Given the description of an element on the screen output the (x, y) to click on. 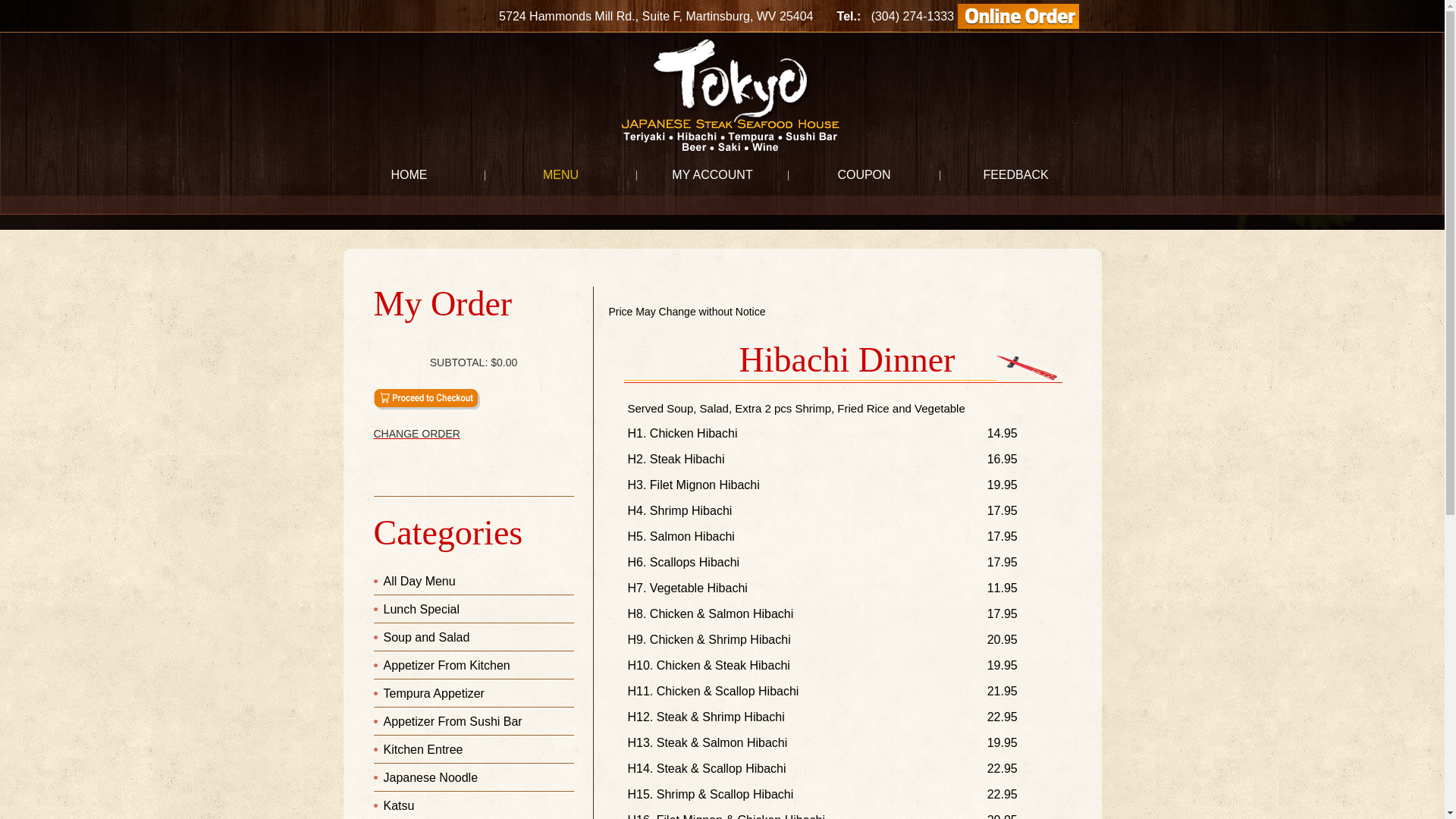
CHANGE ORDER Element type: text (473, 433)
Tempura Appetizer Element type: text (433, 693)
MY ACCOUNT Element type: text (712, 175)
Japanese Noodle Element type: text (430, 777)
COUPON Element type: text (864, 175)
Soup and Salad Element type: text (426, 636)
All Day Menu Element type: text (419, 580)
Appetizer From Sushi Bar Element type: text (452, 721)
Kitchen Entree Element type: text (423, 749)
HOME Element type: text (409, 175)
FEEDBACK Element type: text (1016, 175)
Appetizer From Kitchen Element type: text (446, 664)
MENU Element type: text (561, 175)
Katsu Element type: text (398, 805)
Lunch Special Element type: text (421, 608)
